Given the description of an element on the screen output the (x, y) to click on. 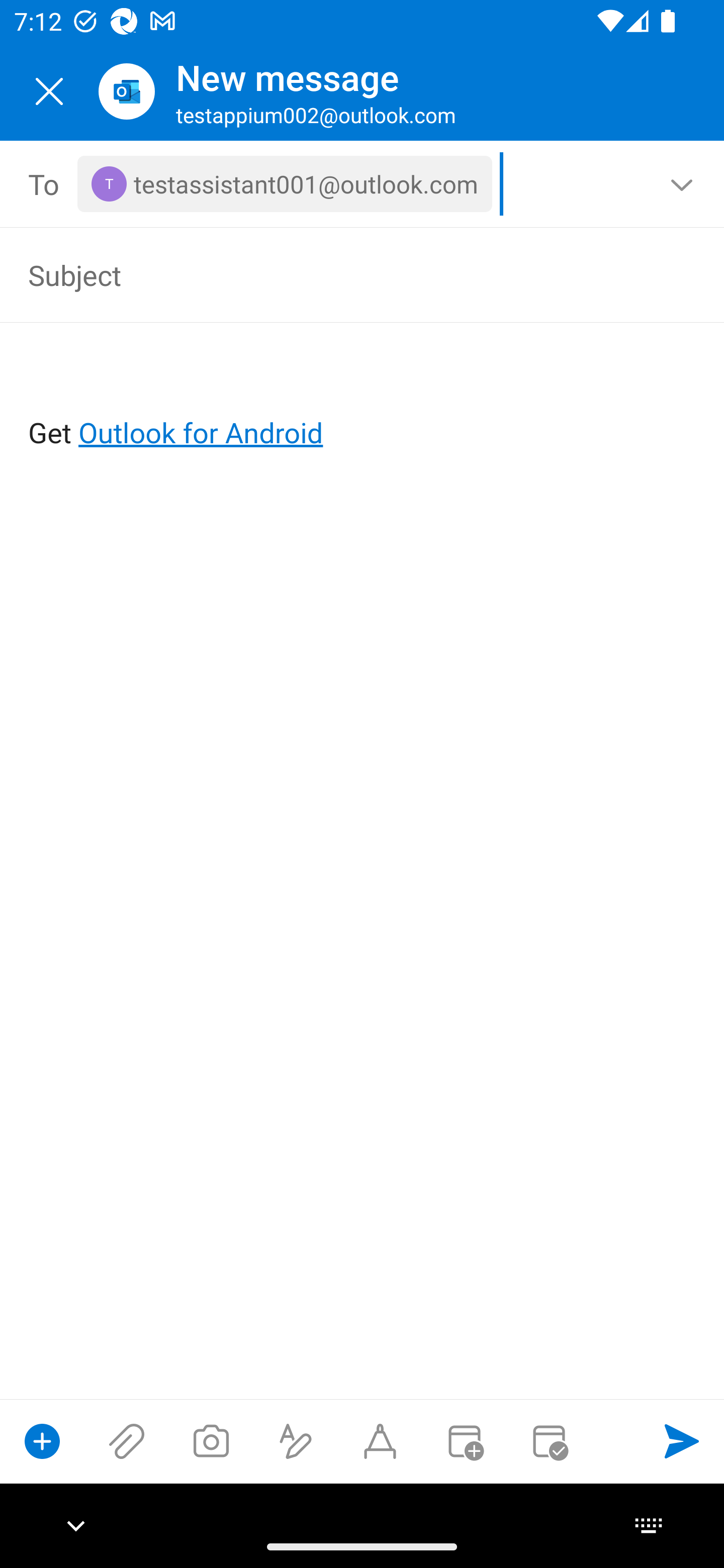
Close (49, 91)
To, 1 recipient <testassistant001@outlook.com> (362, 184)
Subject (333, 274)


Get Outlook for Android (363, 400)
Show compose options (42, 1440)
Attach files (126, 1440)
Take a photo (210, 1440)
Show formatting options (295, 1440)
Start Ink compose (380, 1440)
Convert to event (464, 1440)
Send availability (548, 1440)
Send (681, 1440)
